Given the description of an element on the screen output the (x, y) to click on. 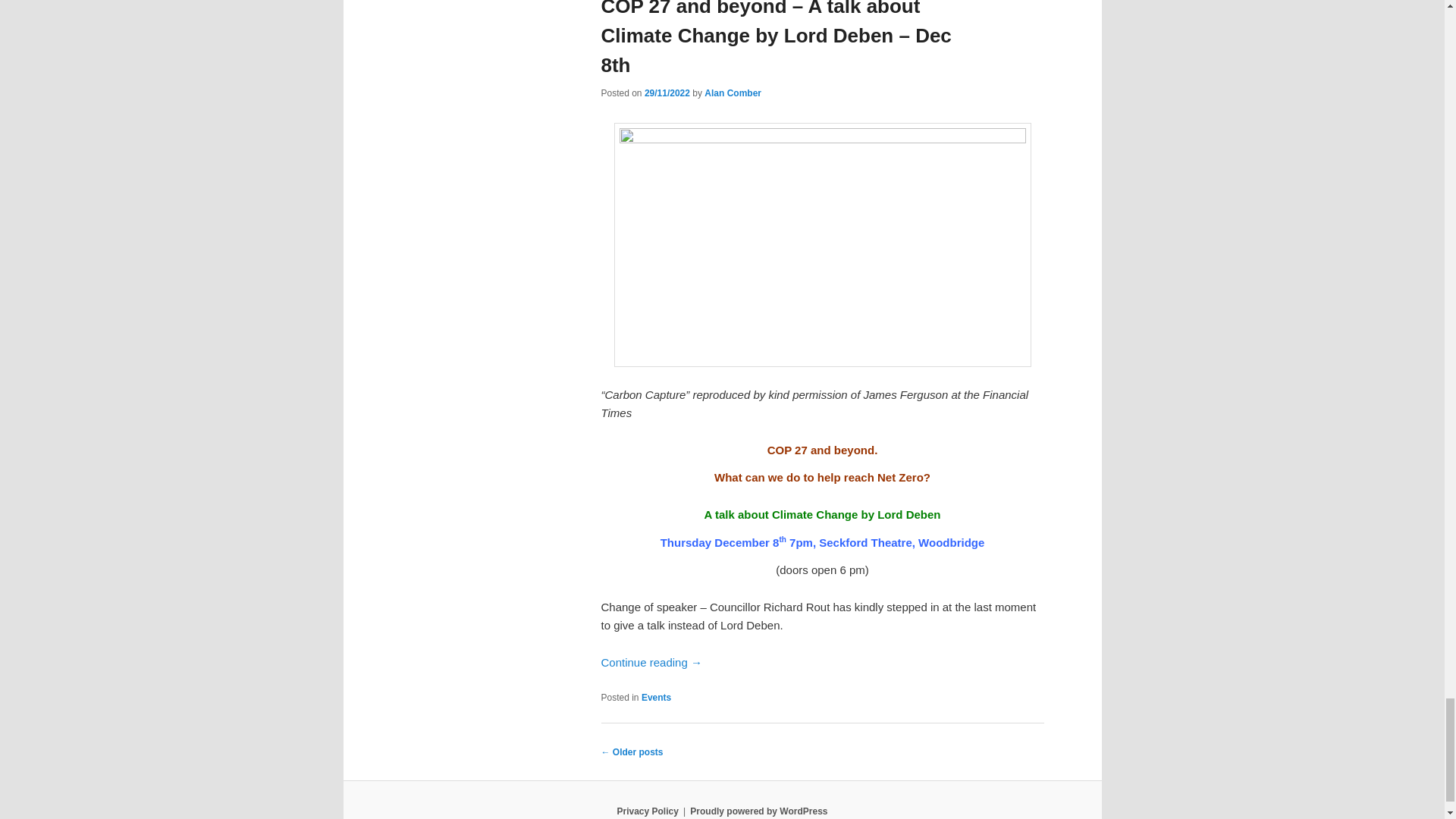
Semantic Personal Publishing Platform (758, 810)
